Given the description of an element on the screen output the (x, y) to click on. 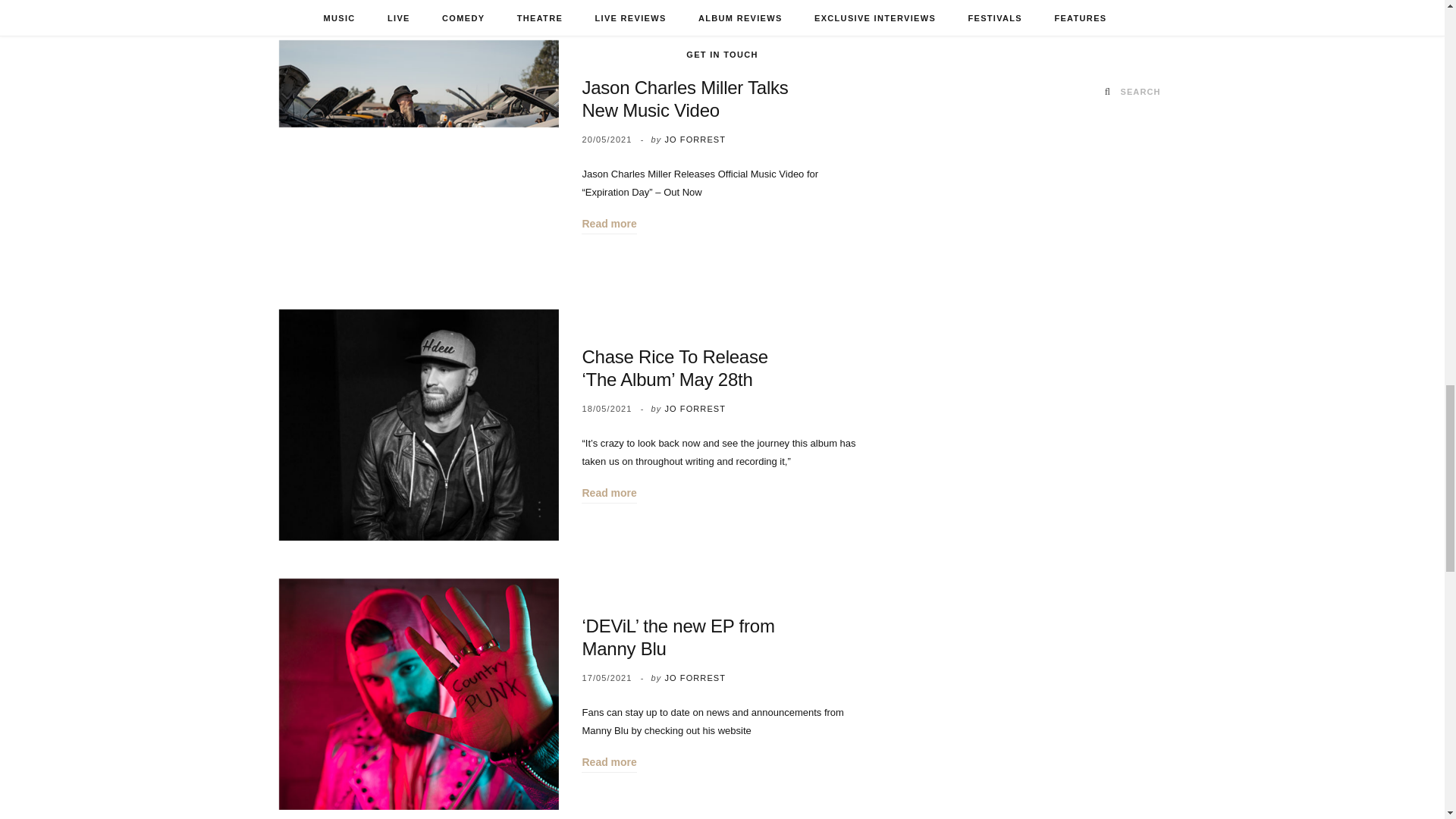
Posts by Jo Forrest (694, 408)
Posts by Jo Forrest (694, 139)
Jason Charles Miller Talks New Music Video (683, 98)
Posts by Jo Forrest (694, 677)
Jason Charles Miller Talks New Music Video (419, 155)
